Given the description of an element on the screen output the (x, y) to click on. 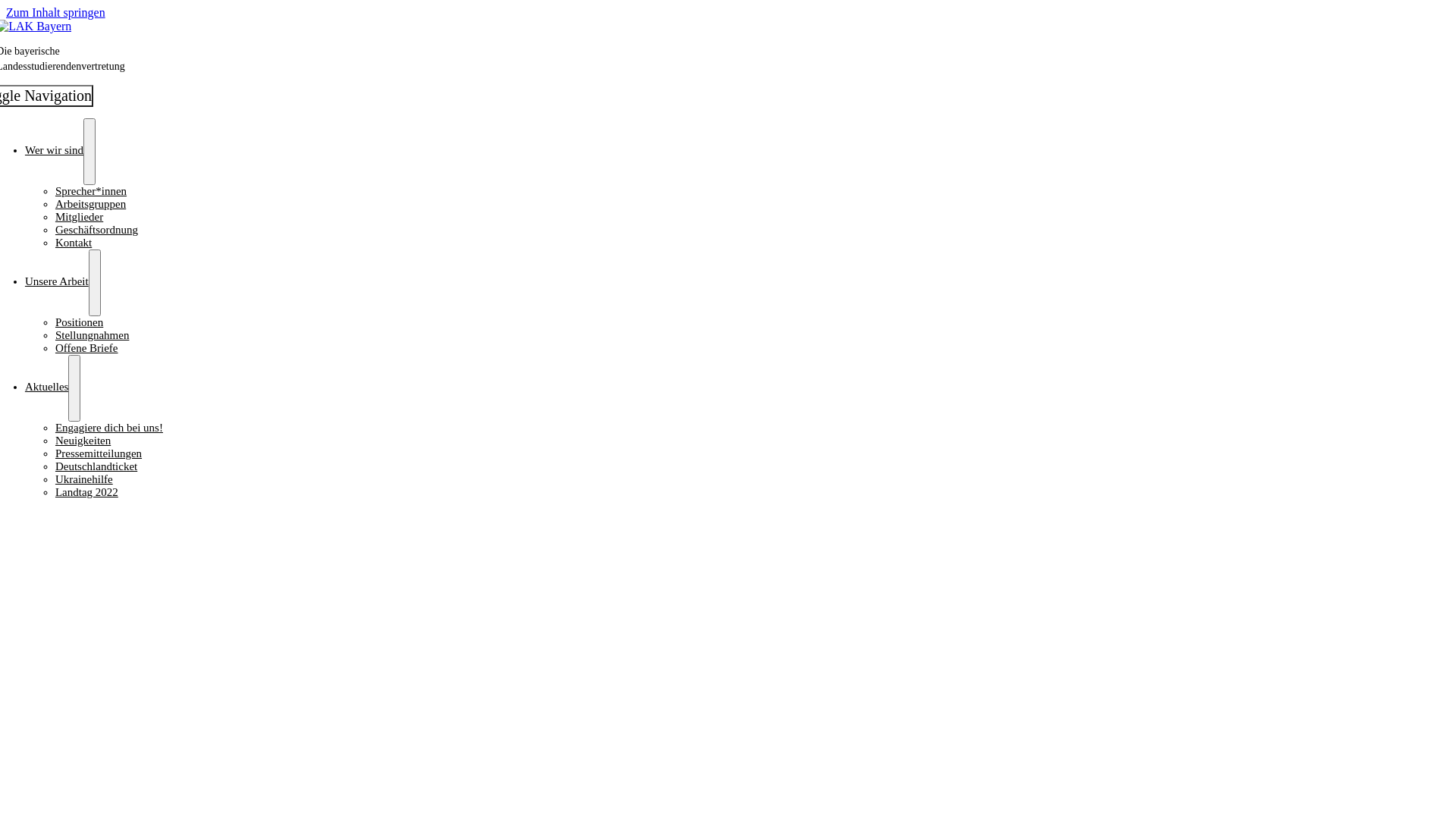
Zum Inhalt springen Element type: text (55, 12)
Sprecher*innen Element type: text (90, 191)
Kontakt Element type: text (73, 242)
Wer wir sind Element type: text (54, 148)
